Given the description of an element on the screen output the (x, y) to click on. 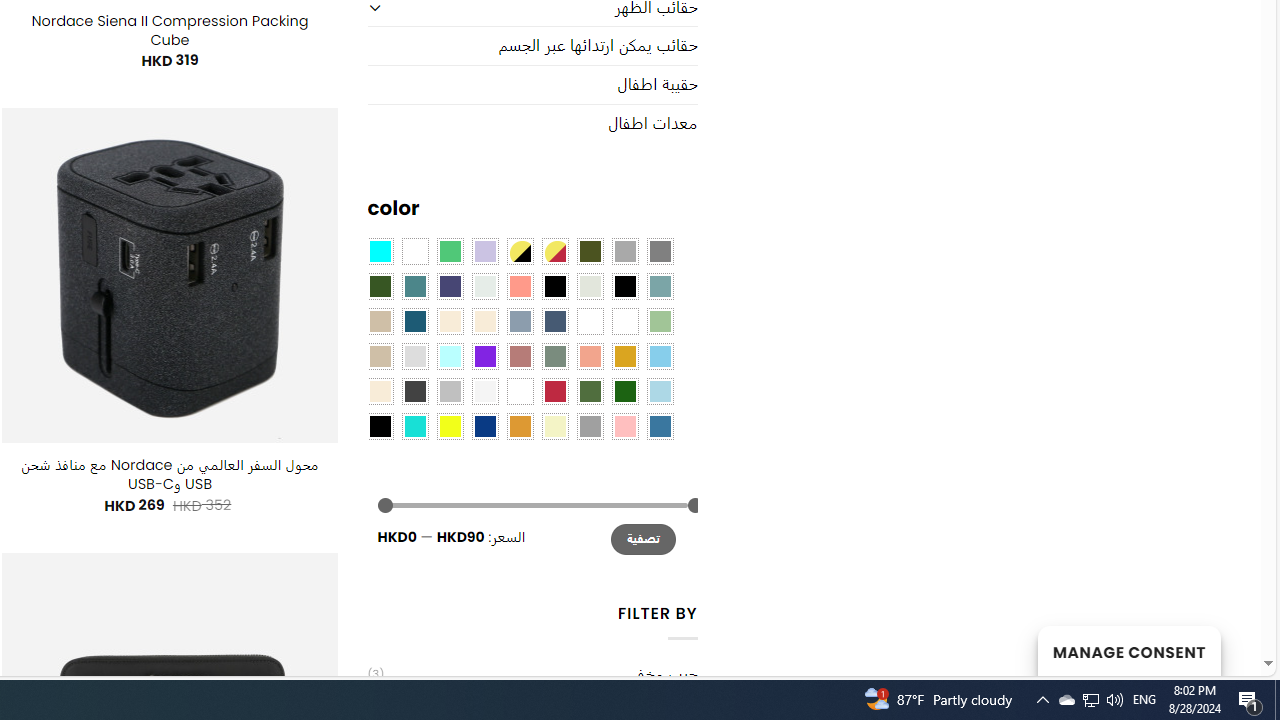
Sage (554, 355)
Dull Nickle (484, 285)
Caramel (449, 321)
Kelp (589, 321)
